Given the description of an element on the screen output the (x, y) to click on. 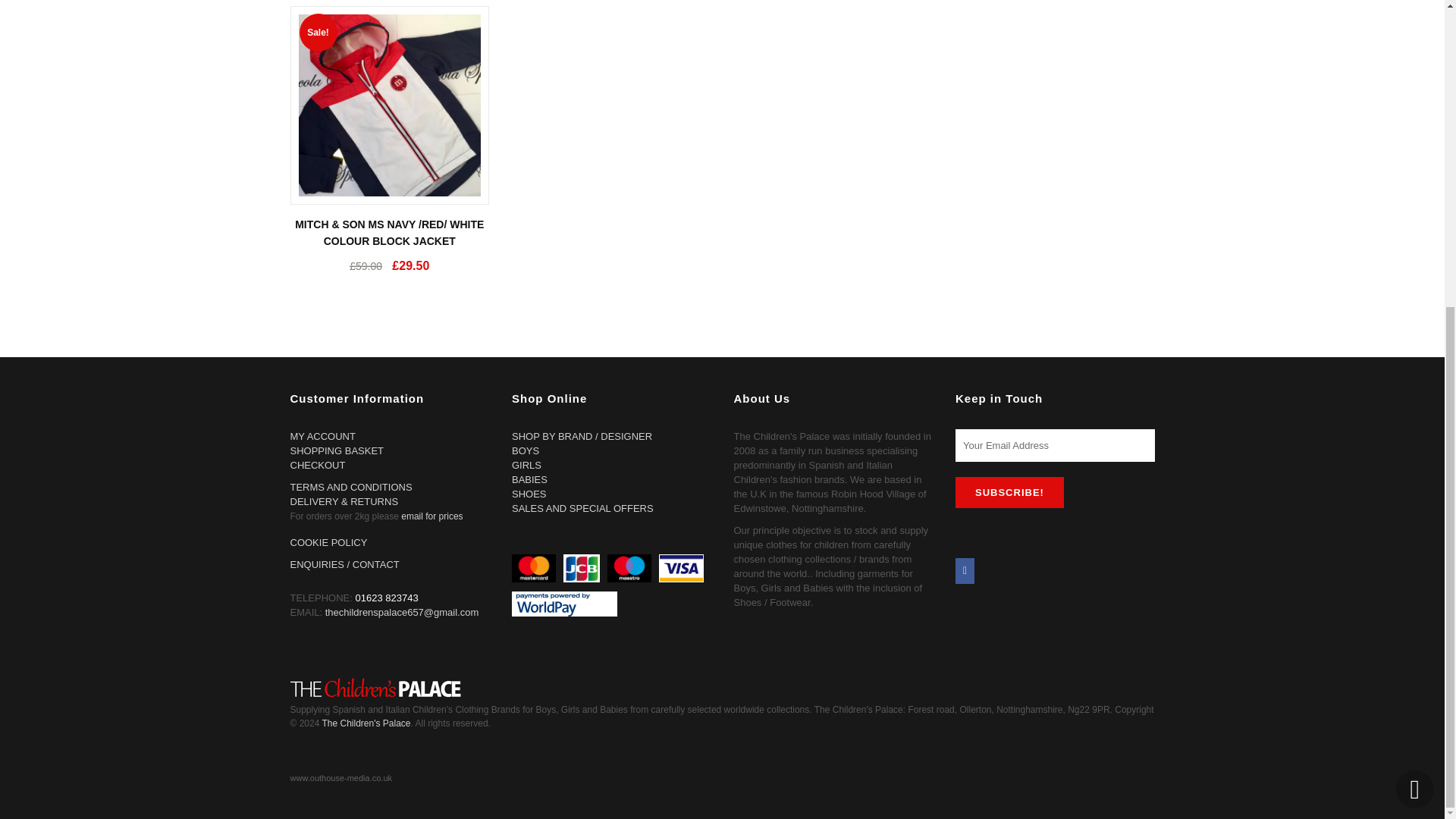
Subscribe! (1009, 491)
